Given the description of an element on the screen output the (x, y) to click on. 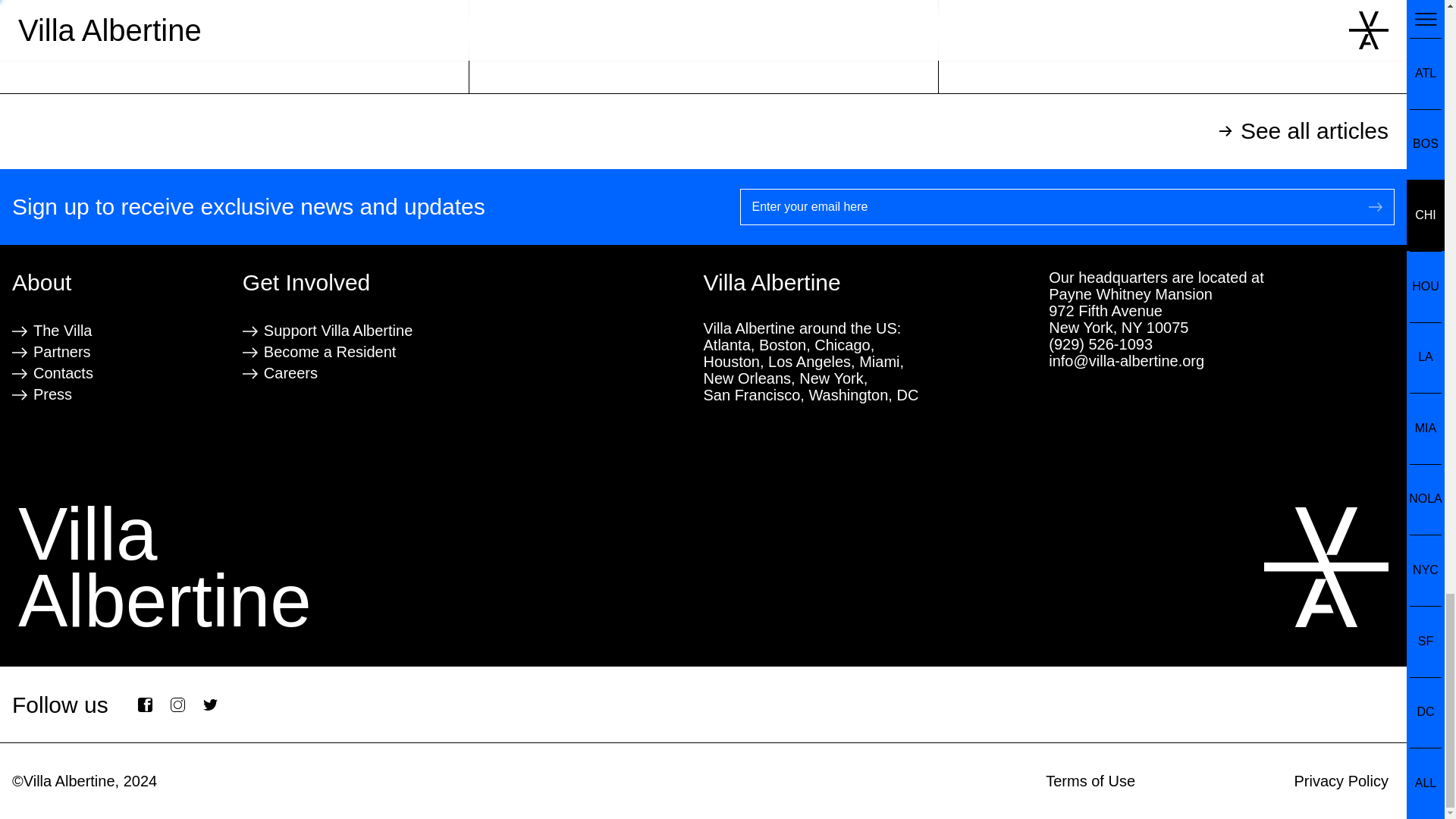
Submit (1375, 207)
Become a Resident (234, 46)
Contacts (329, 351)
Press (63, 373)
Careers (52, 394)
Partners (290, 373)
See all articles (61, 351)
The Villa (703, 131)
Support Villa Albertine (62, 330)
